Given the description of an element on the screen output the (x, y) to click on. 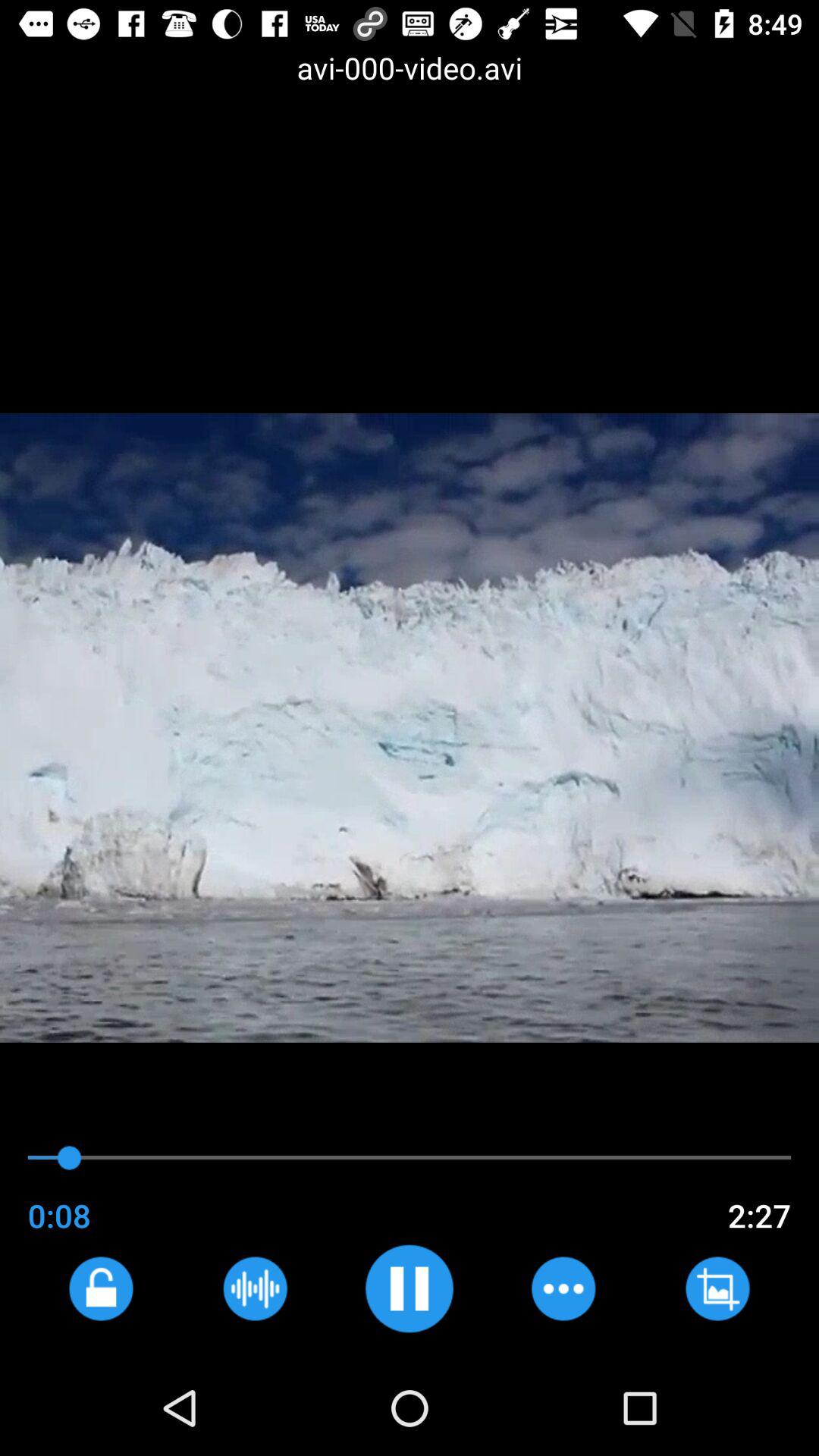
lock the mesdia (100, 1288)
